Given the description of an element on the screen output the (x, y) to click on. 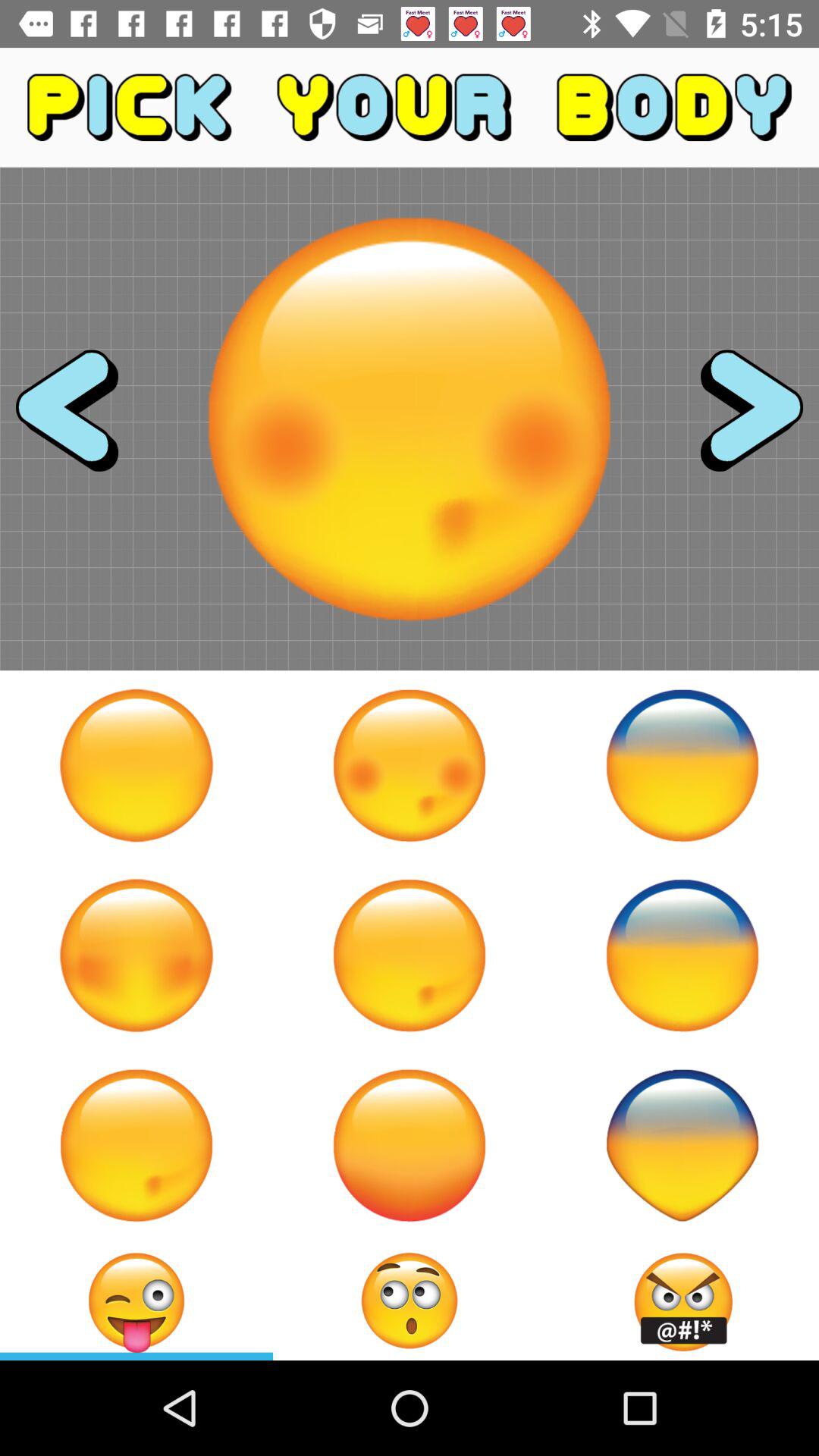
select the emoji (136, 1300)
